Given the description of an element on the screen output the (x, y) to click on. 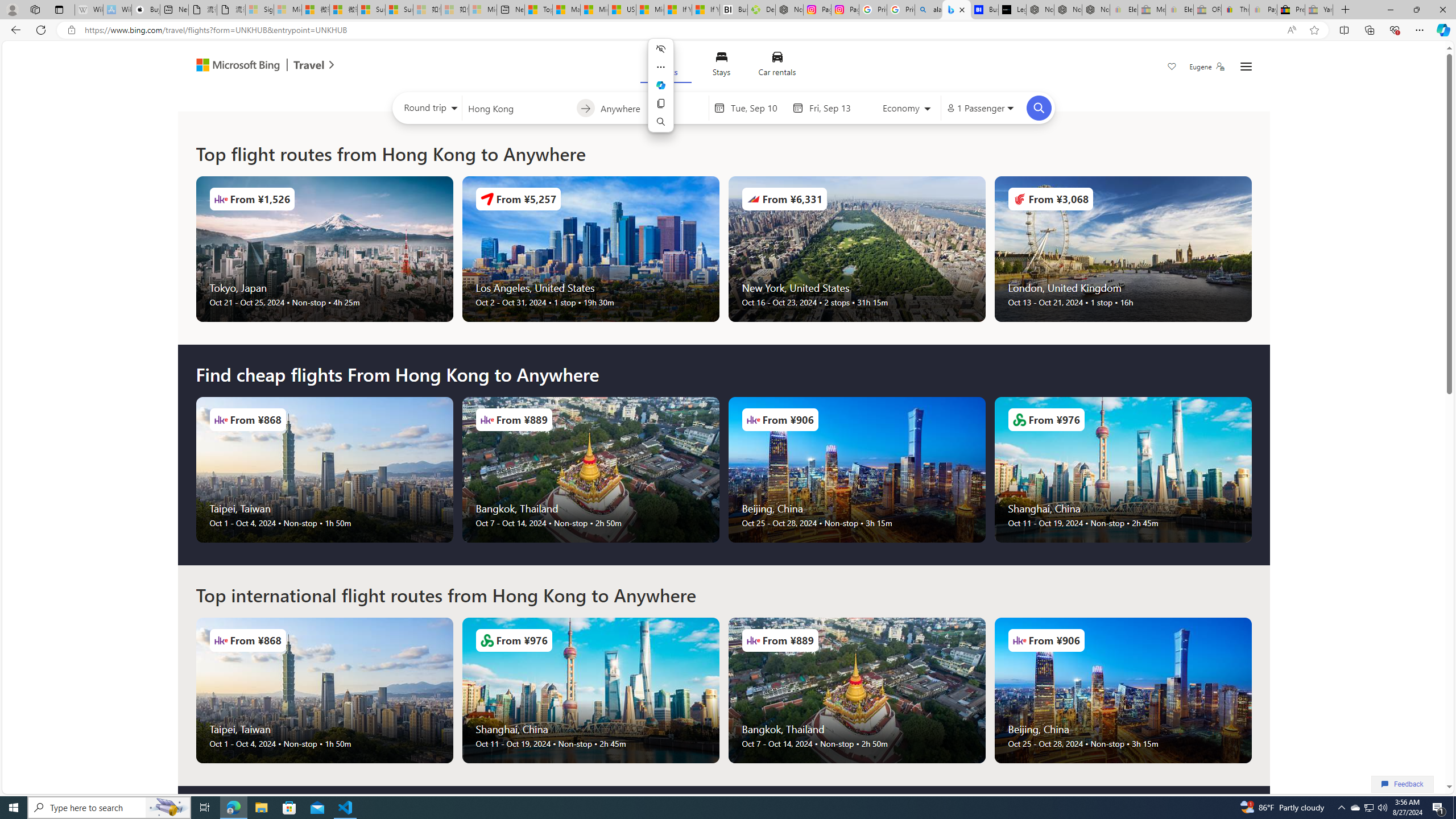
Wikipedia - Sleeping (88, 9)
Car rentals (777, 65)
Microsoft Services Agreement - Sleeping (288, 9)
Going to? (651, 107)
Class: msft-travel-logo (308, 64)
Eugene (1206, 66)
Click to scroll right (1251, 690)
